Given the description of an element on the screen output the (x, y) to click on. 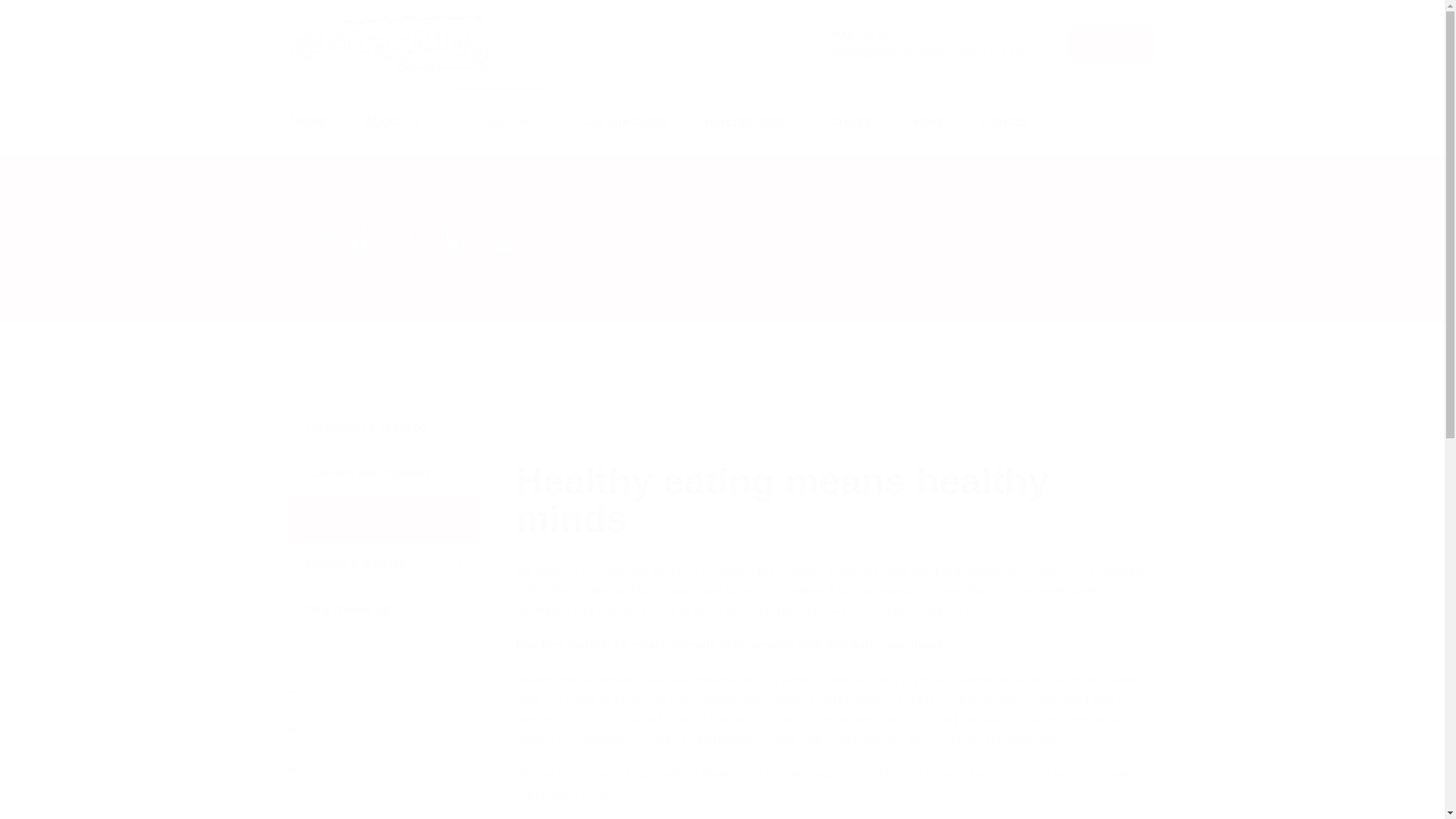
Parents Area (743, 122)
Book A Visit (1110, 41)
Our Approach (500, 120)
Our Nurseries (623, 122)
